Given the description of an element on the screen output the (x, y) to click on. 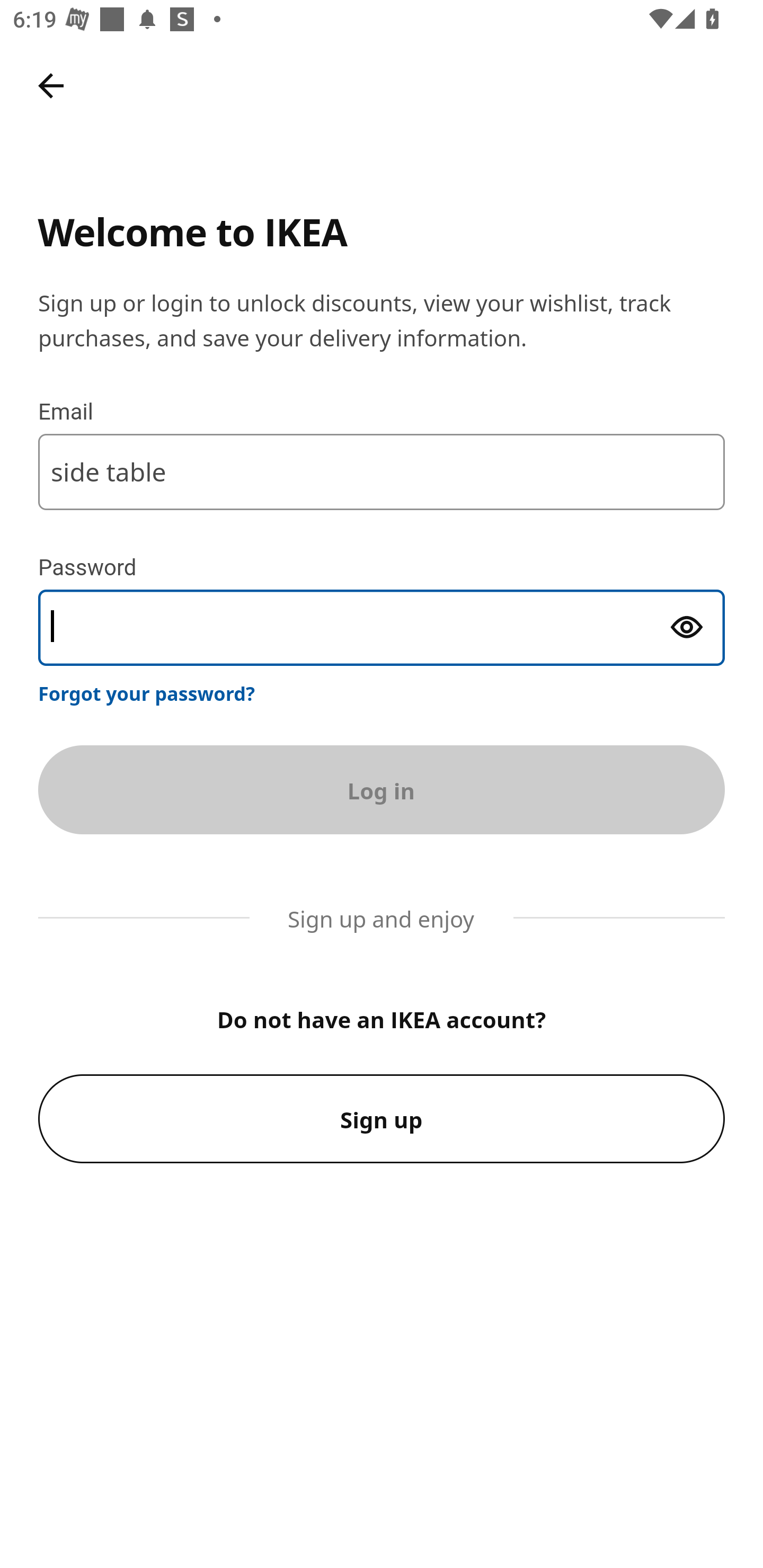
side table (381, 471)
Forgot your password? (146, 692)
Log in (381, 789)
Sign up (381, 1118)
